Given the description of an element on the screen output the (x, y) to click on. 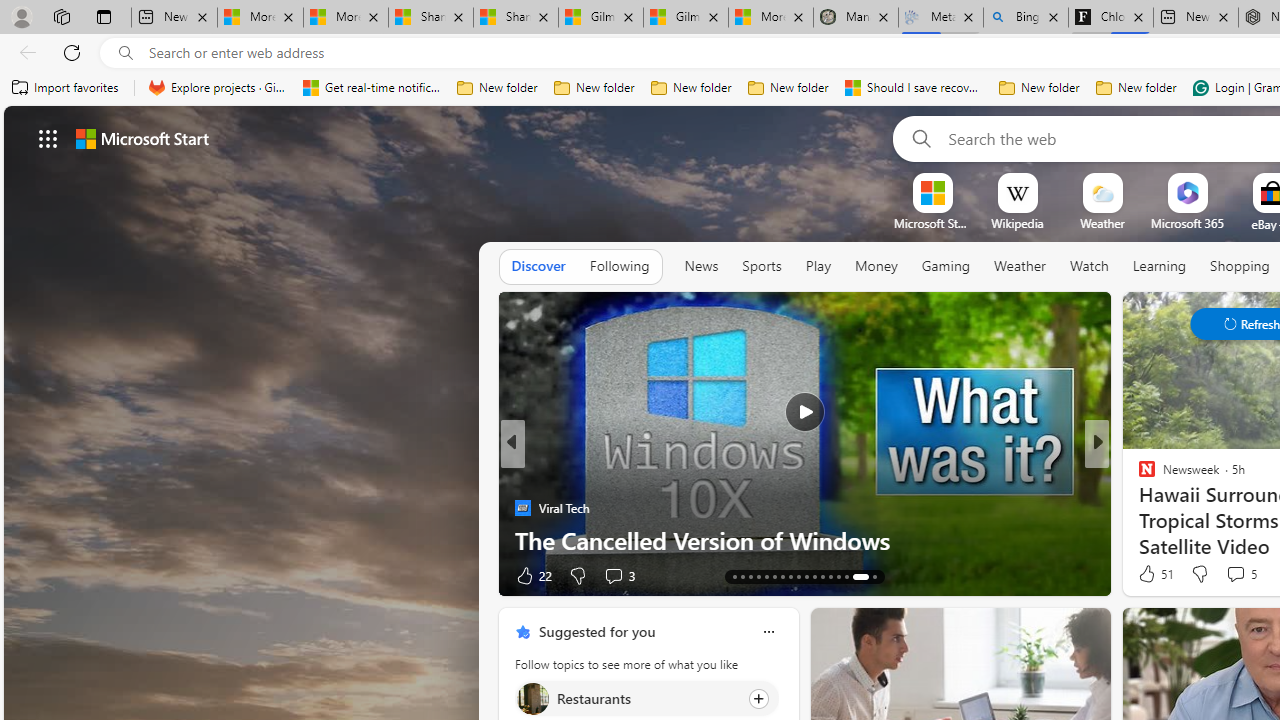
View comments 5 Comment (1240, 574)
View comments 5 Comment (1234, 573)
Class: control (47, 138)
AutomationID: tab-26 (806, 576)
Manatee Mortality Statistics | FWC (856, 17)
51 Like (1154, 574)
You're following The Weather Channel (445, 579)
AutomationID: tab-18 (742, 576)
